Given the description of an element on the screen output the (x, y) to click on. 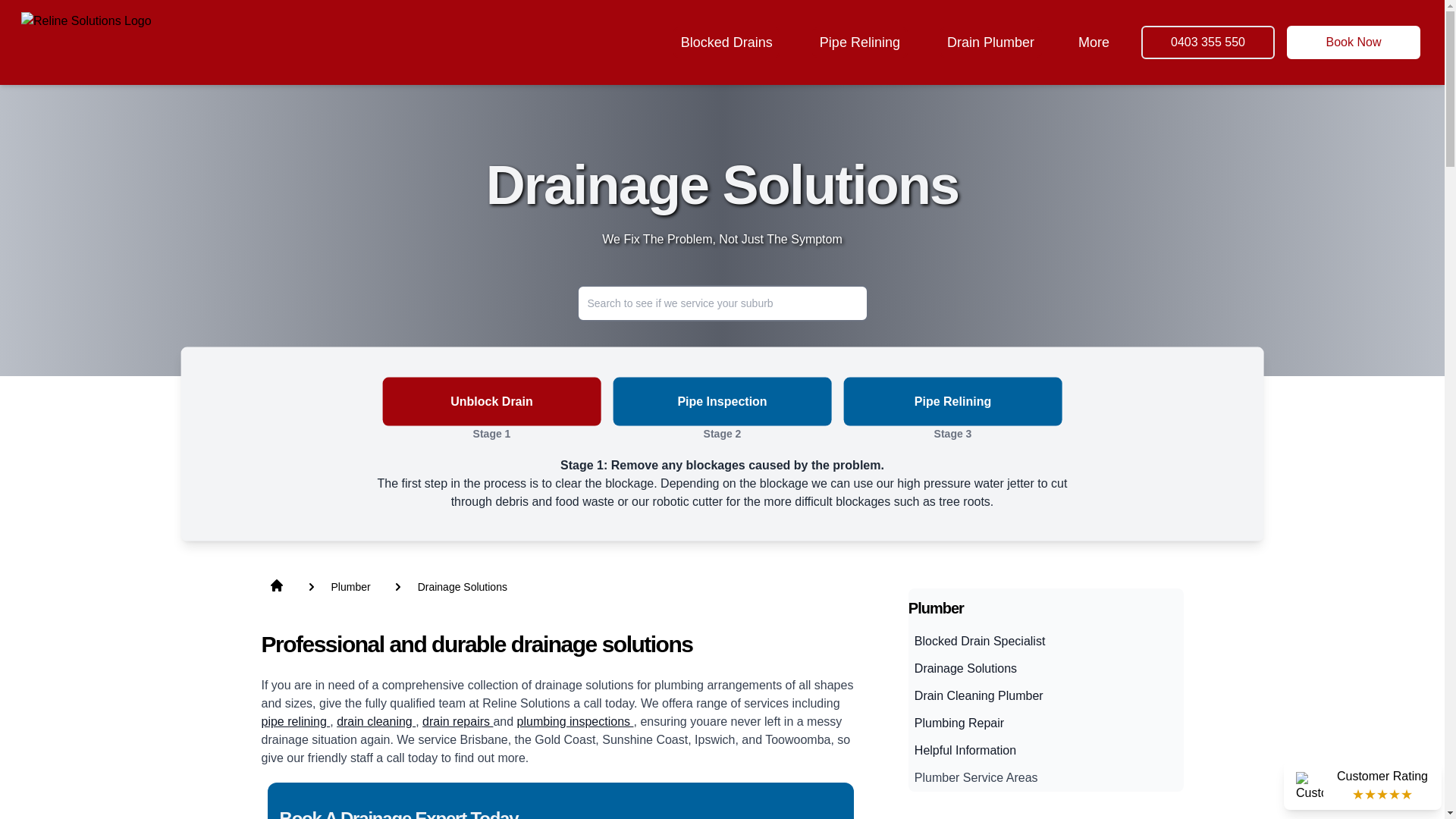
More Links (1093, 42)
Pipe Relining (859, 42)
pipe relining (295, 721)
0403 355 550 (1208, 41)
Blocked Drains (726, 42)
Pipe Relining Service (859, 42)
Drainage Solutions (461, 585)
Reline Solutions (86, 42)
drain repairs (457, 721)
Book Reline Solutions Online Now (1354, 41)
